Given the description of an element on the screen output the (x, y) to click on. 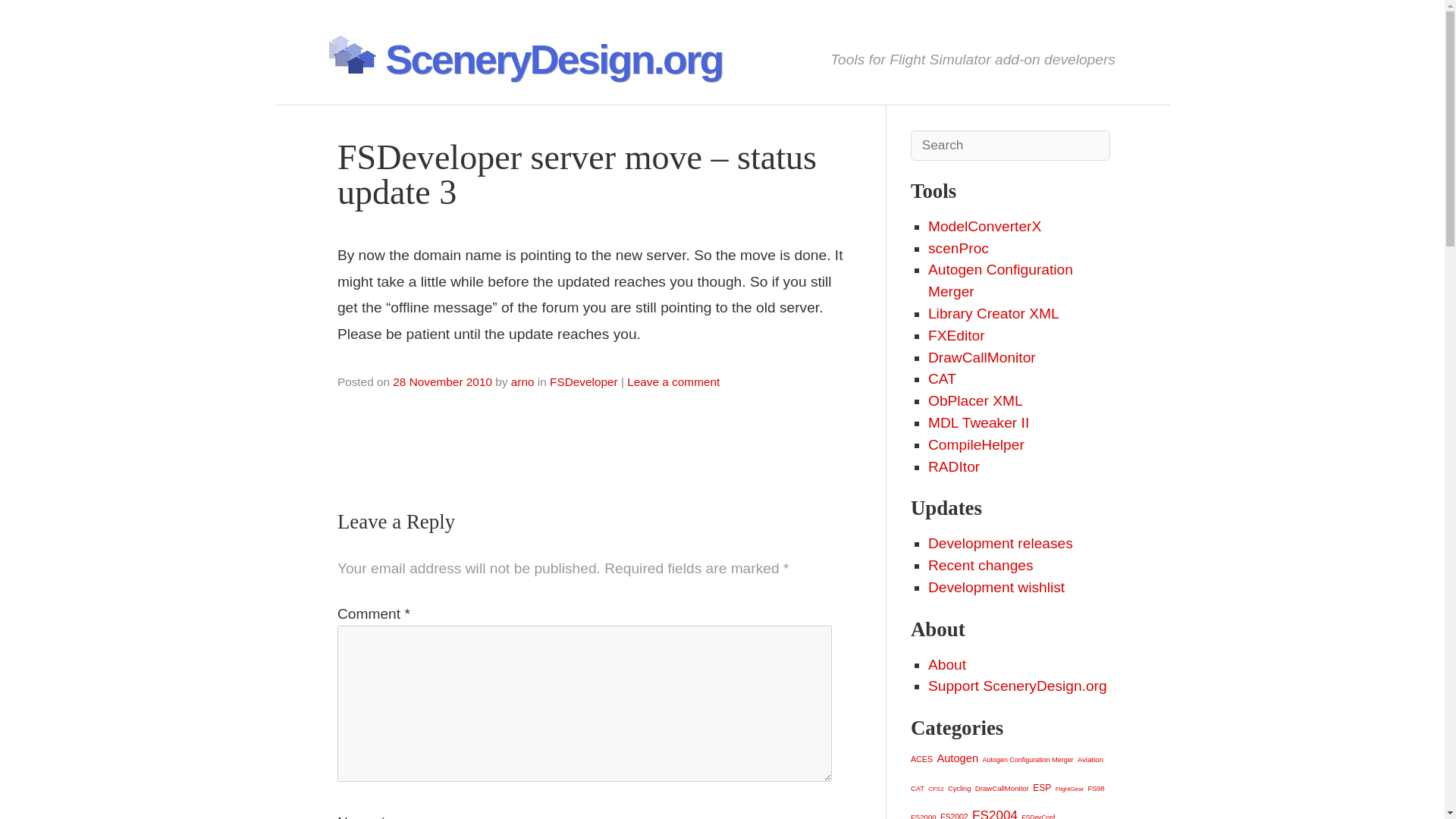
ModelConverterX (984, 226)
Aviation (1090, 759)
Autogen Configuration Merger (1000, 280)
Support SceneryDesign.org (1017, 685)
FS98 (1095, 788)
CAT (942, 378)
ACES (922, 758)
View all posts by arno (522, 381)
FSDeveloper (583, 381)
Development releases (1000, 543)
